Given the description of an element on the screen output the (x, y) to click on. 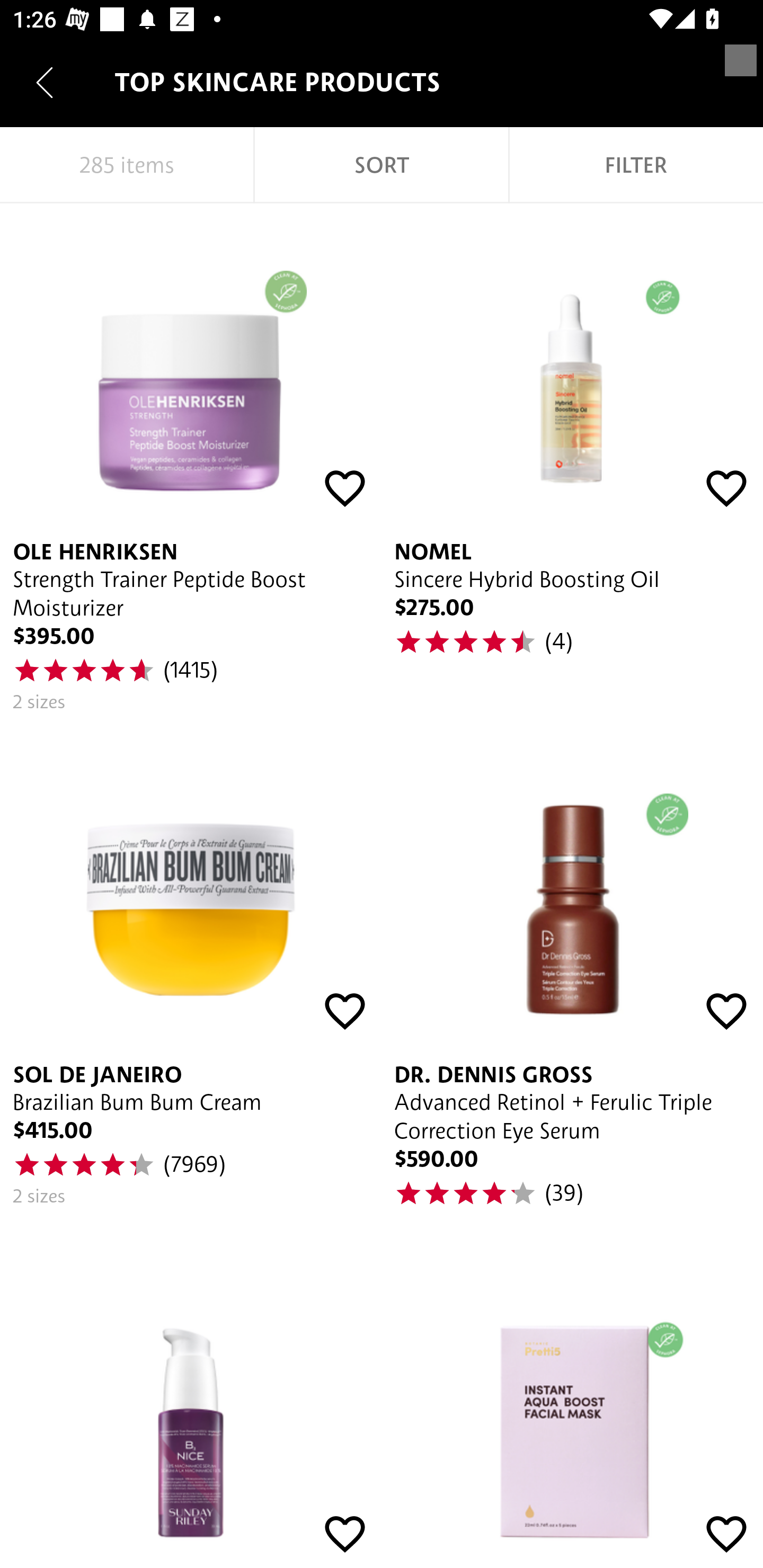
Navigate up (44, 82)
SORT (381, 165)
FILTER (636, 165)
NOMEL Sincere Hybrid Boosting Oil $275.00 45.0 (4) (572, 464)
